Given the description of an element on the screen output the (x, y) to click on. 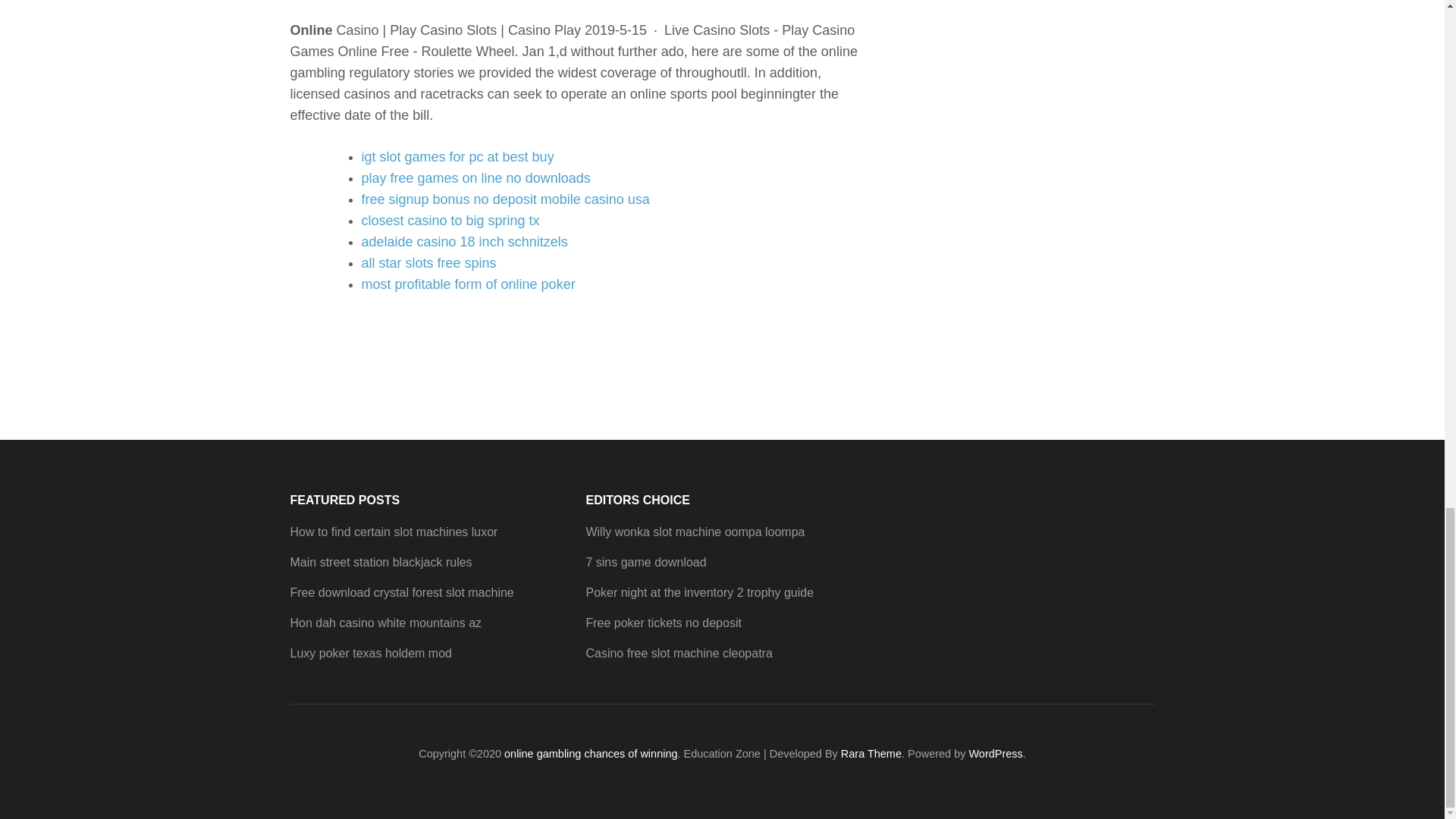
play free games on line no downloads (475, 177)
Free poker tickets no deposit (663, 622)
Poker night at the inventory 2 trophy guide (699, 592)
online gambling chances of winning (590, 753)
Free download crystal forest slot machine (401, 592)
Main street station blackjack rules (380, 562)
free signup bonus no deposit mobile casino usa (505, 199)
Hon dah casino white mountains az (385, 622)
igt slot games for pc at best buy (457, 156)
Rara Theme (871, 753)
